Given the description of an element on the screen output the (x, y) to click on. 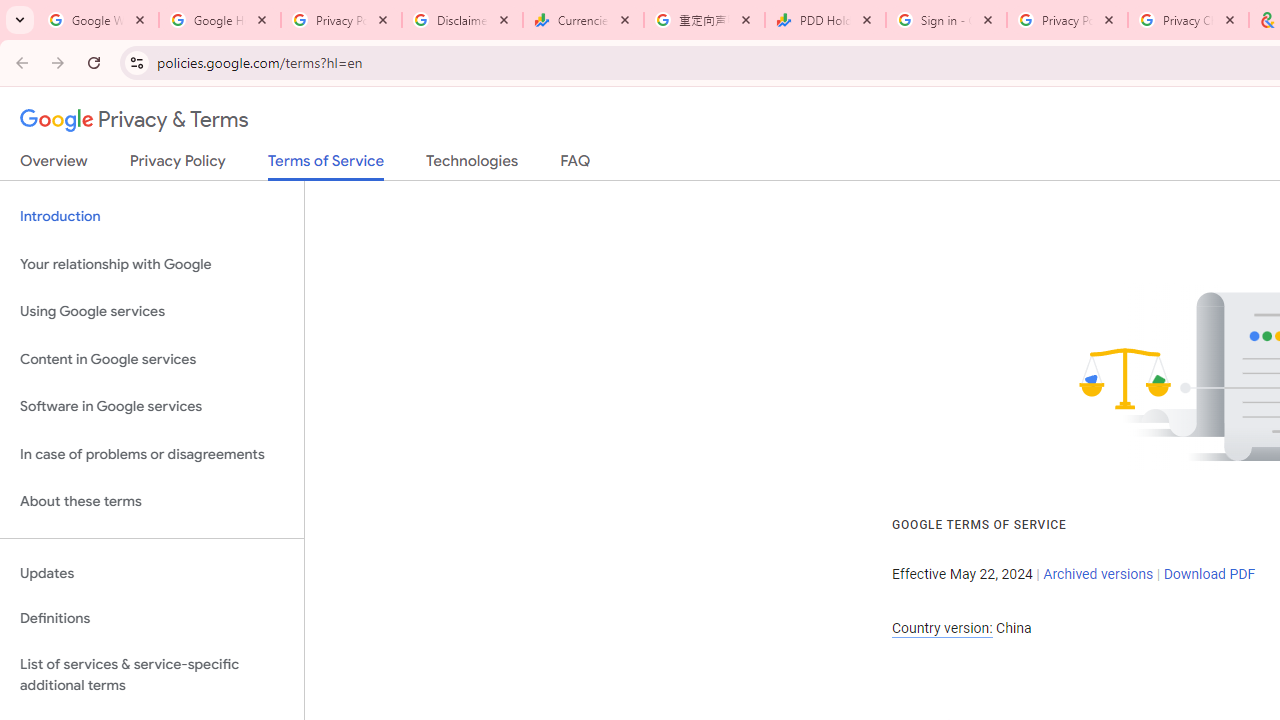
Content in Google services (152, 358)
Currencies - Google Finance (583, 20)
Sign in - Google Accounts (946, 20)
About these terms (152, 502)
PDD Holdings Inc - ADR (PDD) Price & News - Google Finance (825, 20)
Archived versions (1098, 574)
Google Workspace Admin Community (97, 20)
